Given the description of an element on the screen output the (x, y) to click on. 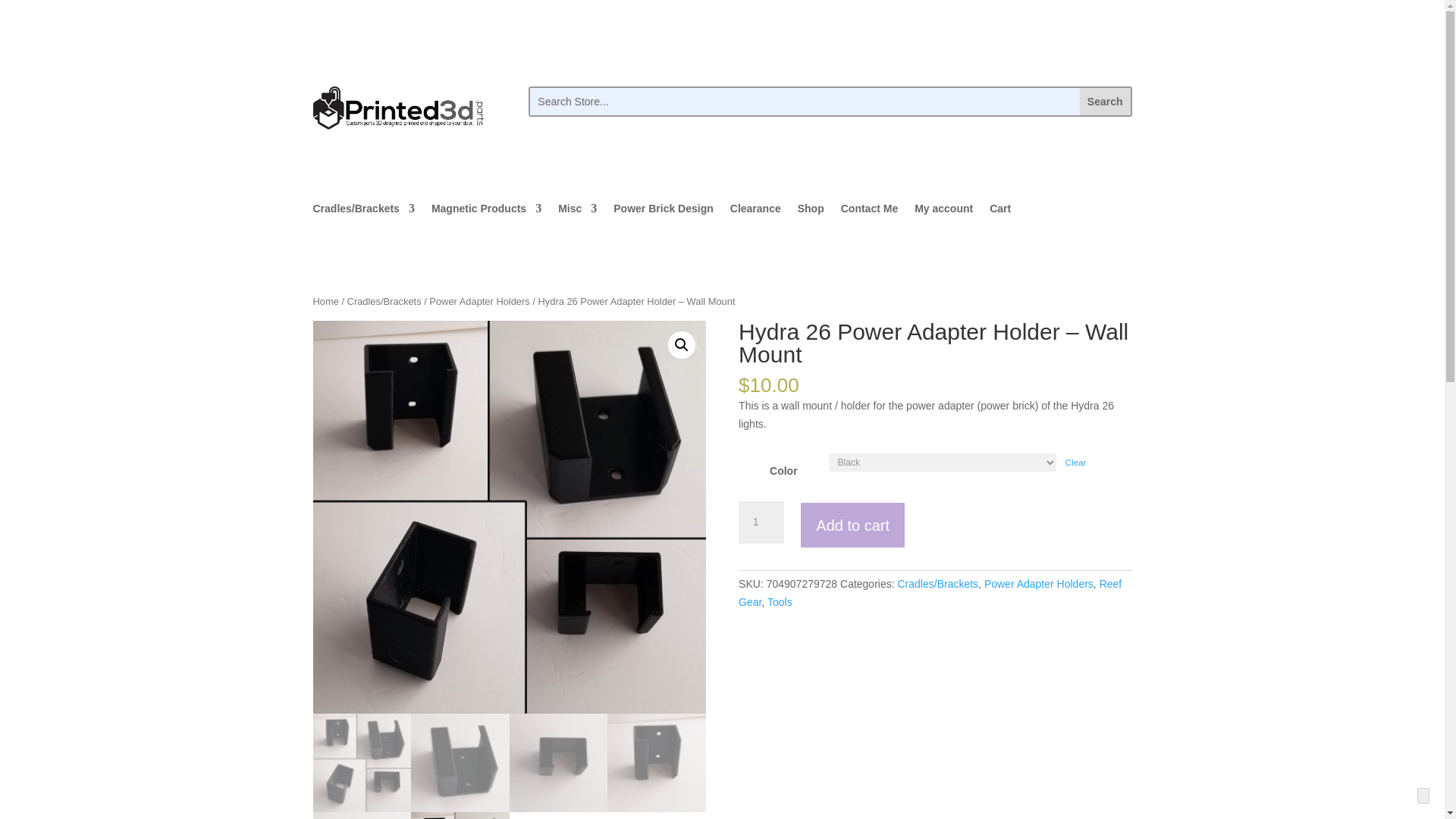
Clearance (755, 211)
Misc (576, 211)
Search (1105, 101)
Magnetic Products (485, 211)
Cart (1000, 211)
logo-third (398, 107)
Search (1105, 101)
Contact Me (869, 211)
Shop (810, 211)
Search (1105, 101)
Power Brick Design (662, 211)
My account (943, 211)
Untitled-4 (156, 517)
1 (761, 522)
